Given the description of an element on the screen output the (x, y) to click on. 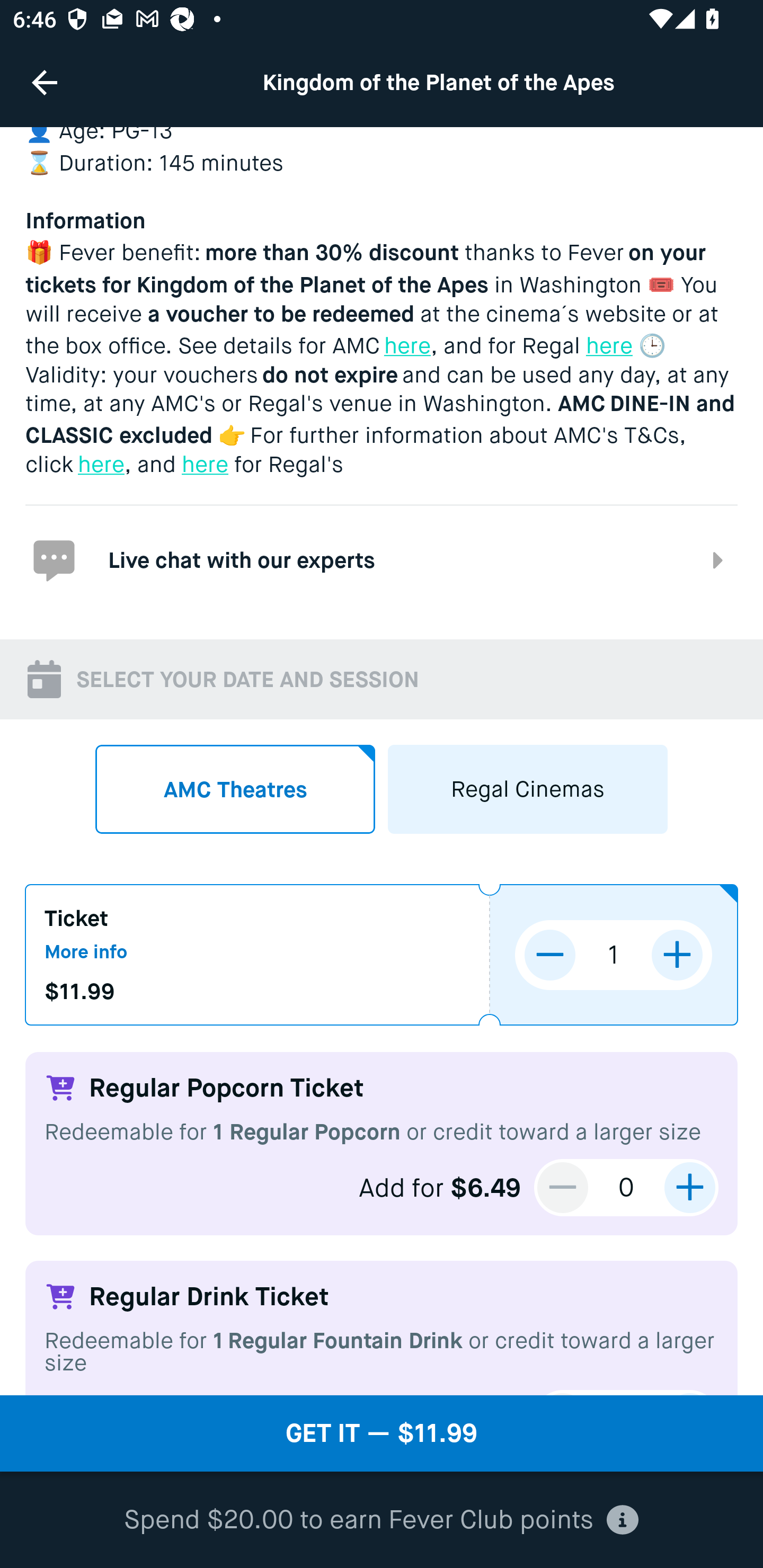
Navigate up (44, 82)
Live chat with our experts (381, 559)
AMC Theatres (235, 789)
Regal Cinemas (527, 789)
More info (85, 951)
decrease (549, 954)
increase (677, 954)
decrease (562, 1187)
increase (689, 1187)
GET IT — $11.99 (381, 1433)
Spend $20.00 to earn Fever Club points (381, 1519)
